Given the description of an element on the screen output the (x, y) to click on. 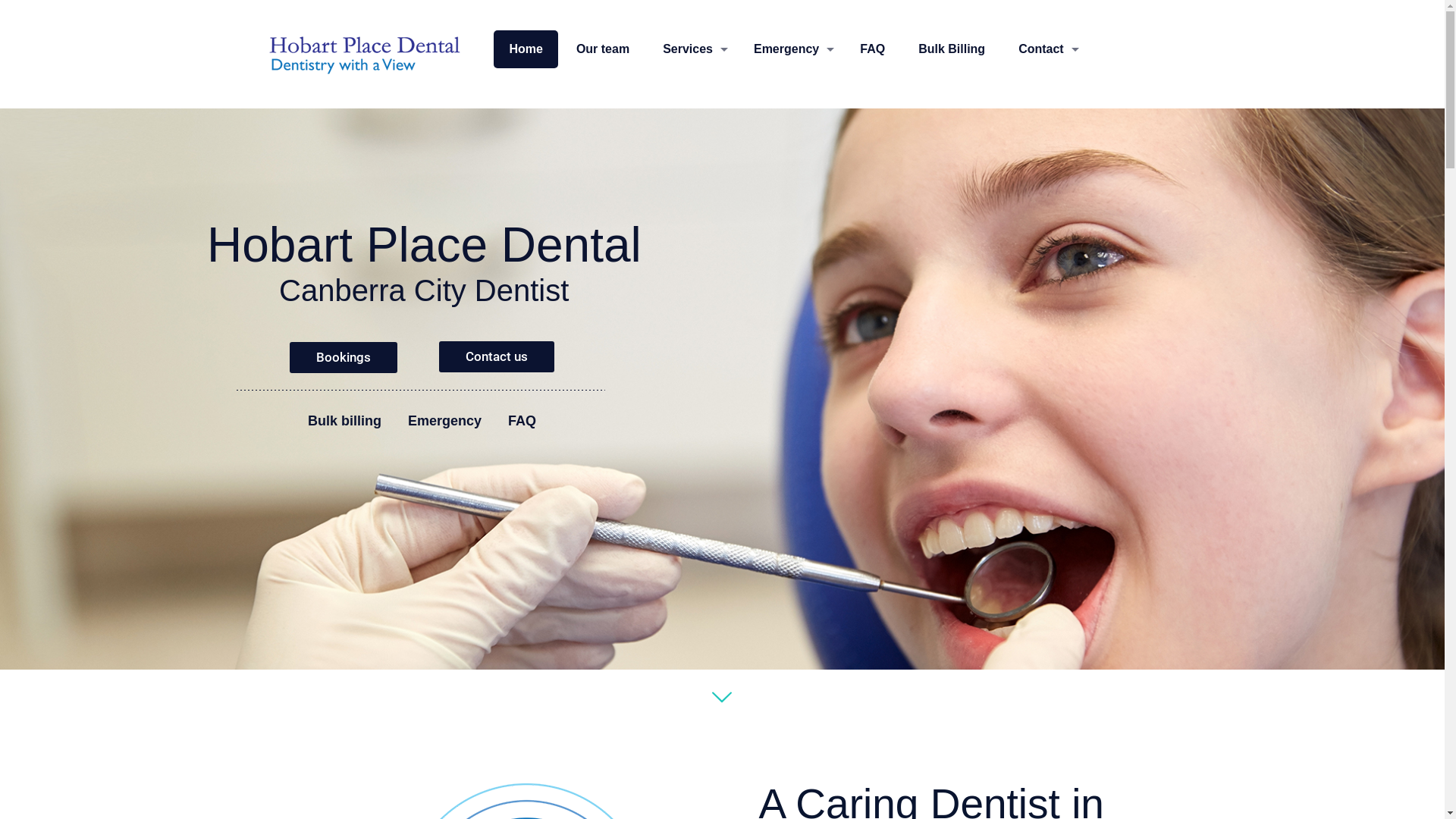
FAQ Element type: text (872, 49)
FAQ Element type: text (522, 420)
Emergency Element type: text (789, 49)
Home Element type: text (525, 49)
Services Element type: text (691, 49)
Contact Element type: text (1044, 49)
Emergency Element type: text (444, 420)
Bulk Billing Element type: text (951, 49)
Our team Element type: text (602, 49)
Hobart Place Dental Element type: hover (365, 54)
Bulk billing Element type: text (344, 420)
